Given the description of an element on the screen output the (x, y) to click on. 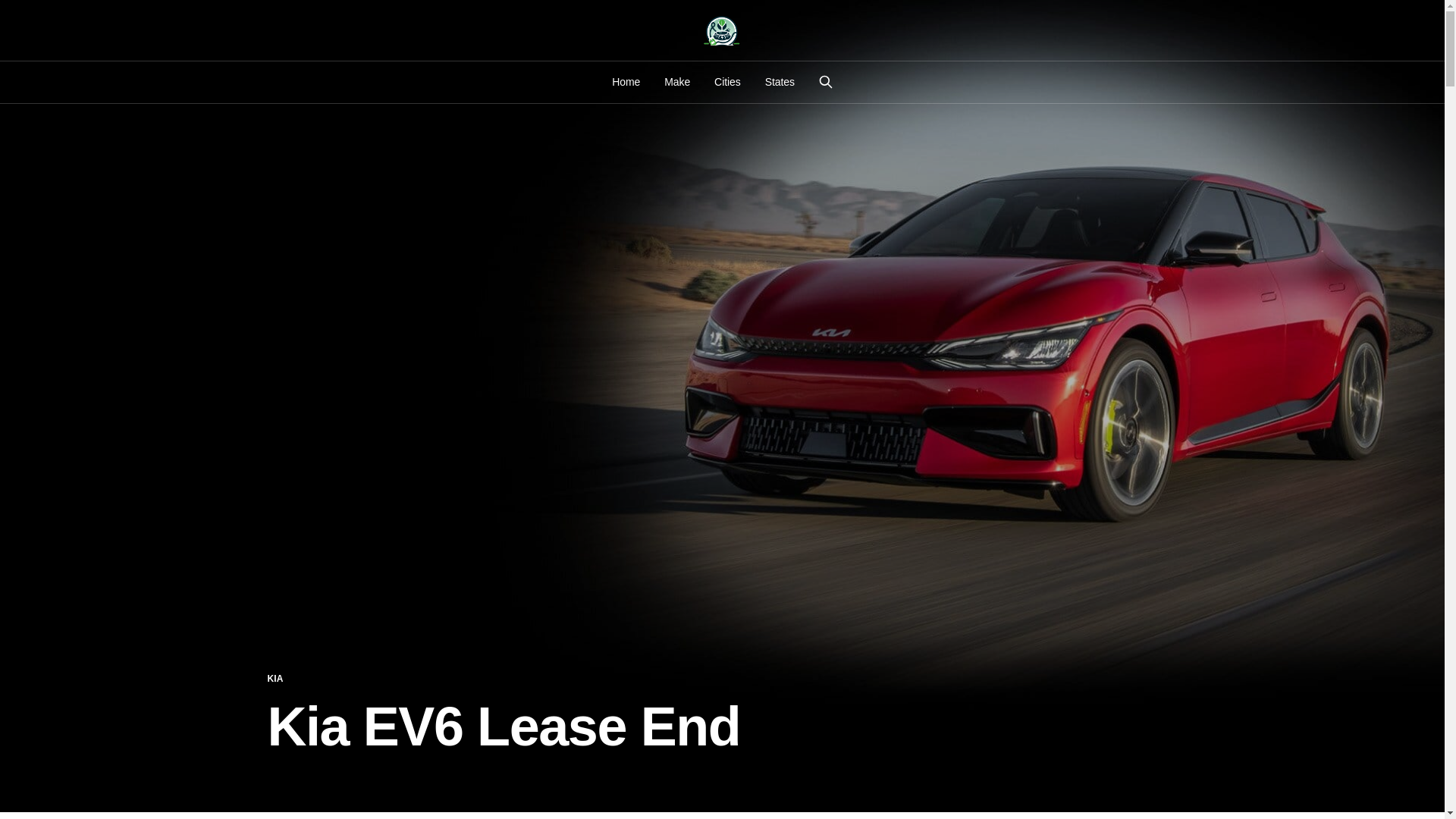
Cities (727, 81)
Home (625, 81)
KIA (274, 678)
States (779, 81)
Make (676, 81)
